Given the description of an element on the screen output the (x, y) to click on. 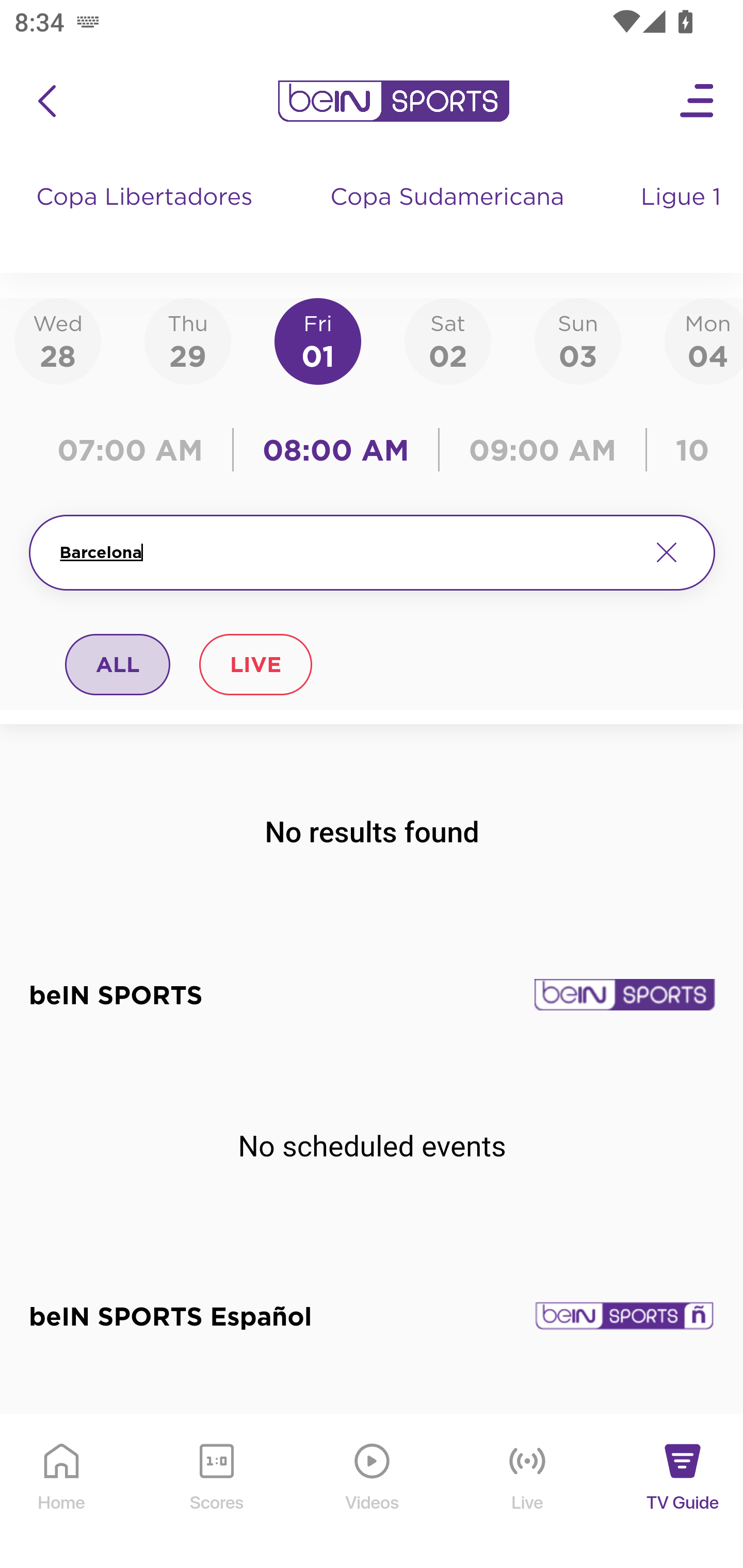
en-us?platform=mobile_android bein logo (392, 101)
icon back (46, 101)
Open Menu Icon (697, 101)
Copa Libertadores (146, 216)
Copa Sudamericana (448, 216)
Ligue 1 (682, 216)
Wed28 (58, 340)
Thu29 (187, 340)
Fri01 (318, 340)
Sat02 (447, 340)
Sun03 (578, 340)
Mon04 (703, 340)
07:00 AM (135, 449)
08:00 AM (336, 449)
09:00 AM (542, 449)
Barcelona (346, 552)
ALL (118, 663)
LIVE (255, 663)
Home Home Icon Home (61, 1491)
Scores Scores Icon Scores (216, 1491)
Videos Videos Icon Videos (372, 1491)
TV Guide TV Guide Icon TV Guide (682, 1491)
